Given the description of an element on the screen output the (x, y) to click on. 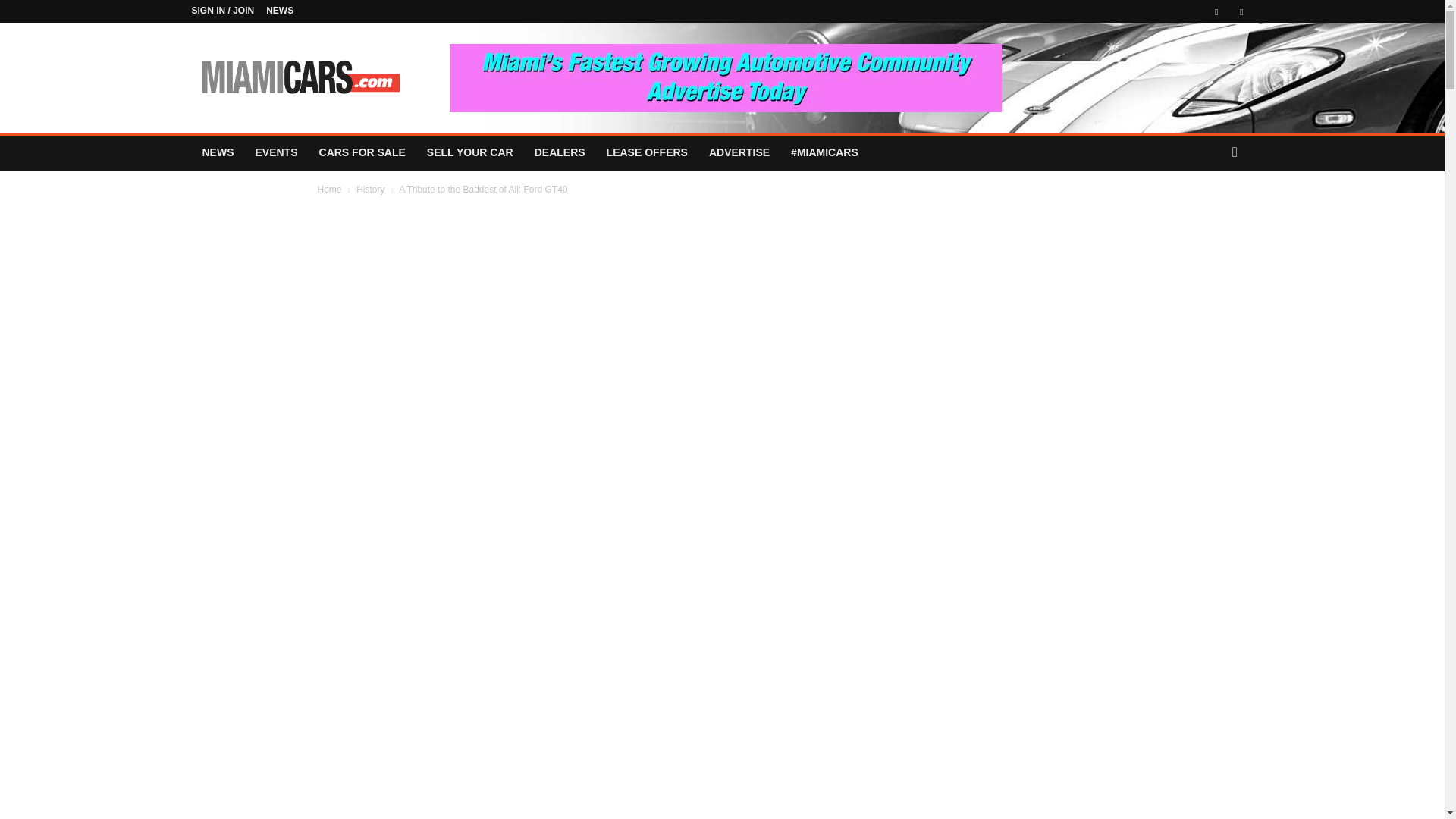
MiamiCars.com (298, 77)
NEWS (280, 9)
Facebook (1216, 11)
Twitter (1241, 11)
